Given the description of an element on the screen output the (x, y) to click on. 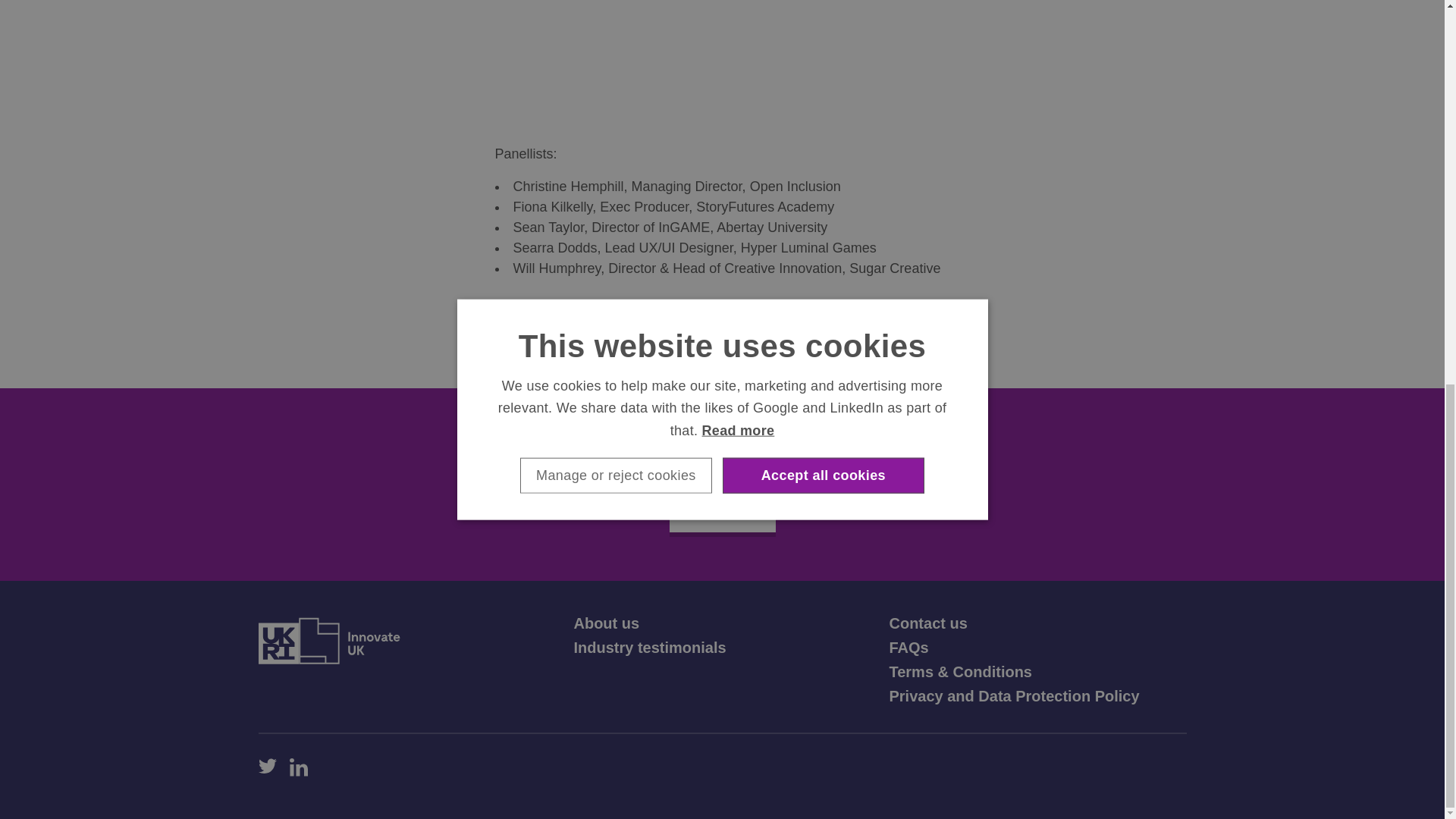
About us (606, 623)
Link to Immersive Tech Network on Twitter (266, 767)
Innovate UK Website (327, 640)
FAQs (908, 647)
Industry testimonials (649, 647)
Join (721, 510)
Privacy and Data Protection Policy (1013, 695)
About us (606, 623)
Contact us (927, 623)
Link to Immersive Tech Network on LinkedIn (298, 767)
Industry testimonials (649, 647)
Contact us (927, 623)
FAQs (908, 647)
